Given the description of an element on the screen output the (x, y) to click on. 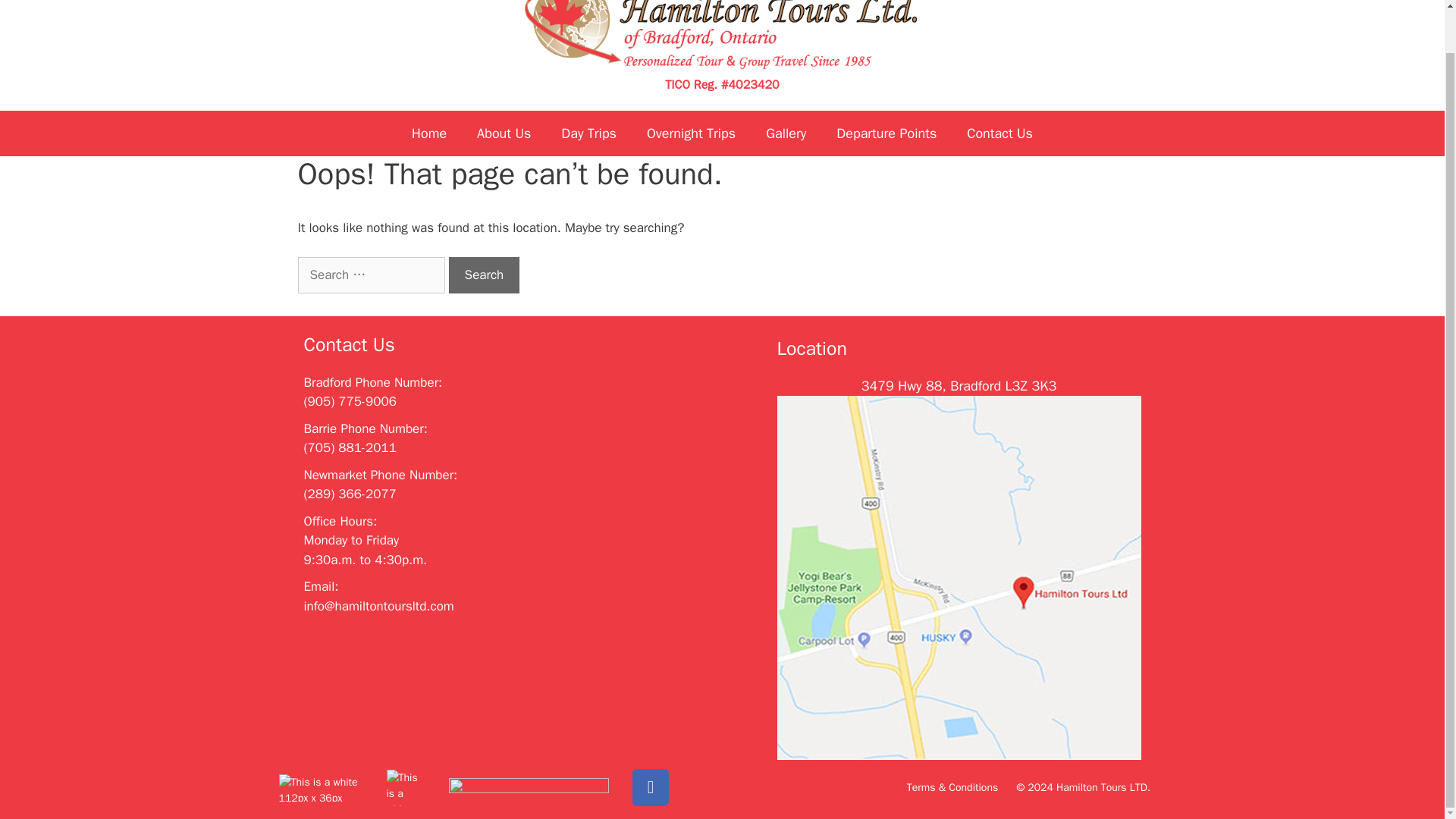
Search (483, 275)
Day Trips (588, 133)
Departure Points (886, 133)
Hamilton Tours LTD of Bradford Ontario (722, 25)
Search (483, 275)
Contact Us (1000, 133)
Hamilton Tours LTD of Bradford Ontario on Facebook (649, 787)
Gallery (786, 133)
Search for: (370, 275)
About Us (503, 133)
Overnight Trips (691, 133)
Search (483, 275)
Hamilton Tours LTD of Bradford Ontario (722, 40)
Home (428, 133)
